Given the description of an element on the screen output the (x, y) to click on. 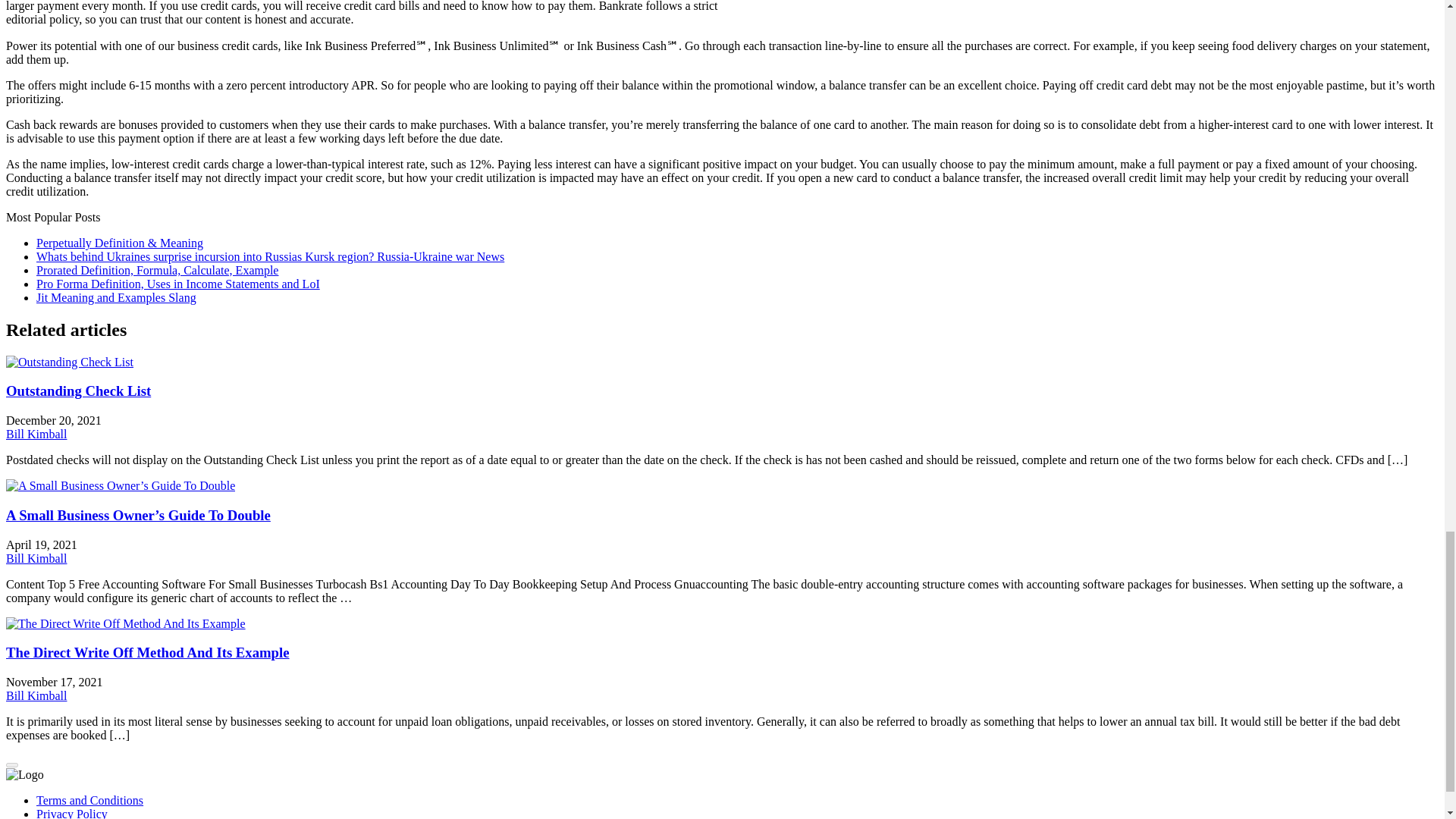
Privacy Policy (71, 813)
Bill Kimball (35, 433)
Bill Kimball (35, 695)
Bill Kimball (35, 558)
Terms and Conditions (89, 799)
Prorated Definition, Formula, Calculate, Example (157, 269)
Jit Meaning and Examples Slang (116, 297)
Pro Forma Definition, Uses in Income Statements and LoI (178, 283)
